Given the description of an element on the screen output the (x, y) to click on. 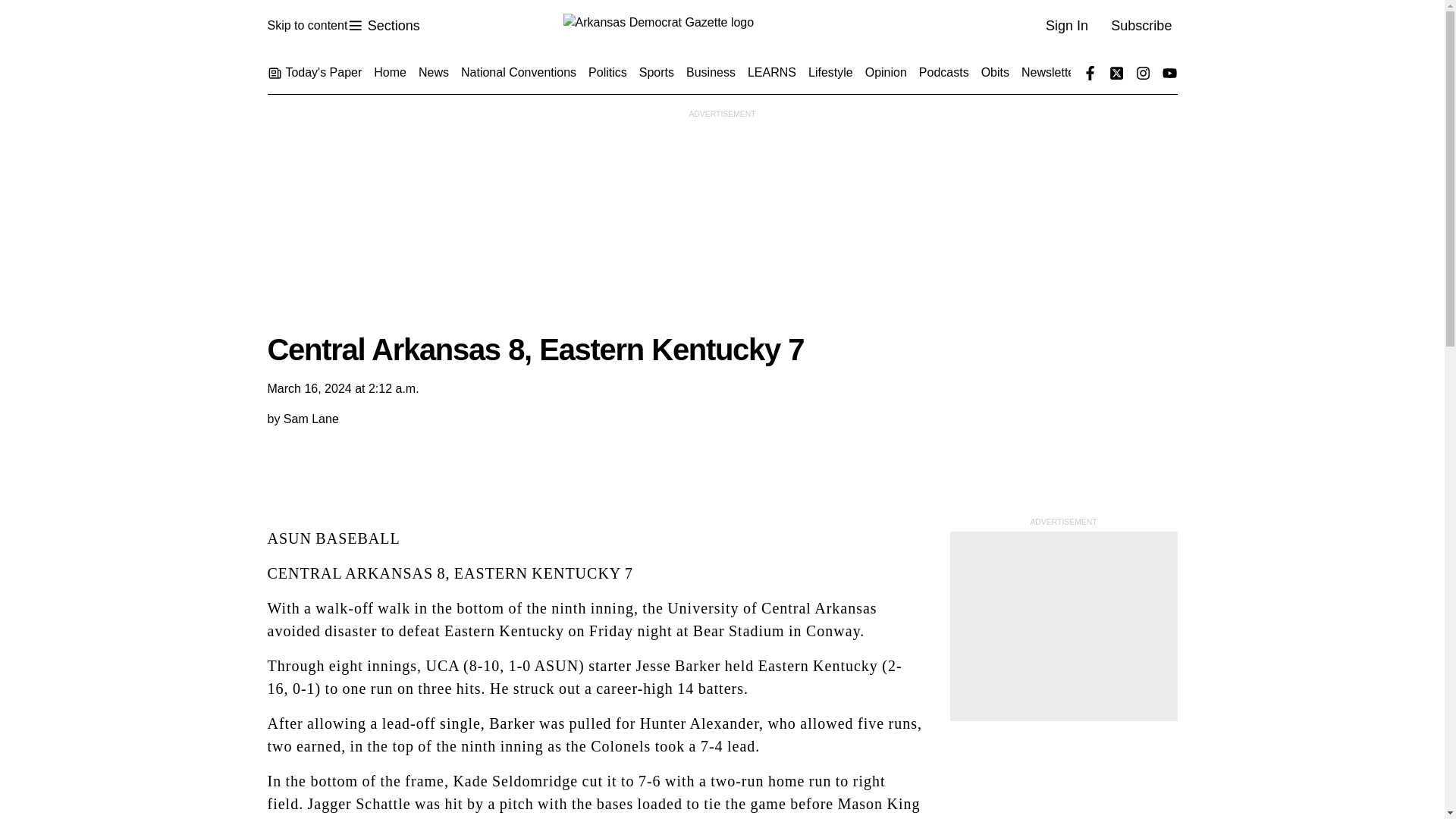
Arkansas Democrat Gazette (383, 25)
Skip to content (721, 25)
